Given the description of an element on the screen output the (x, y) to click on. 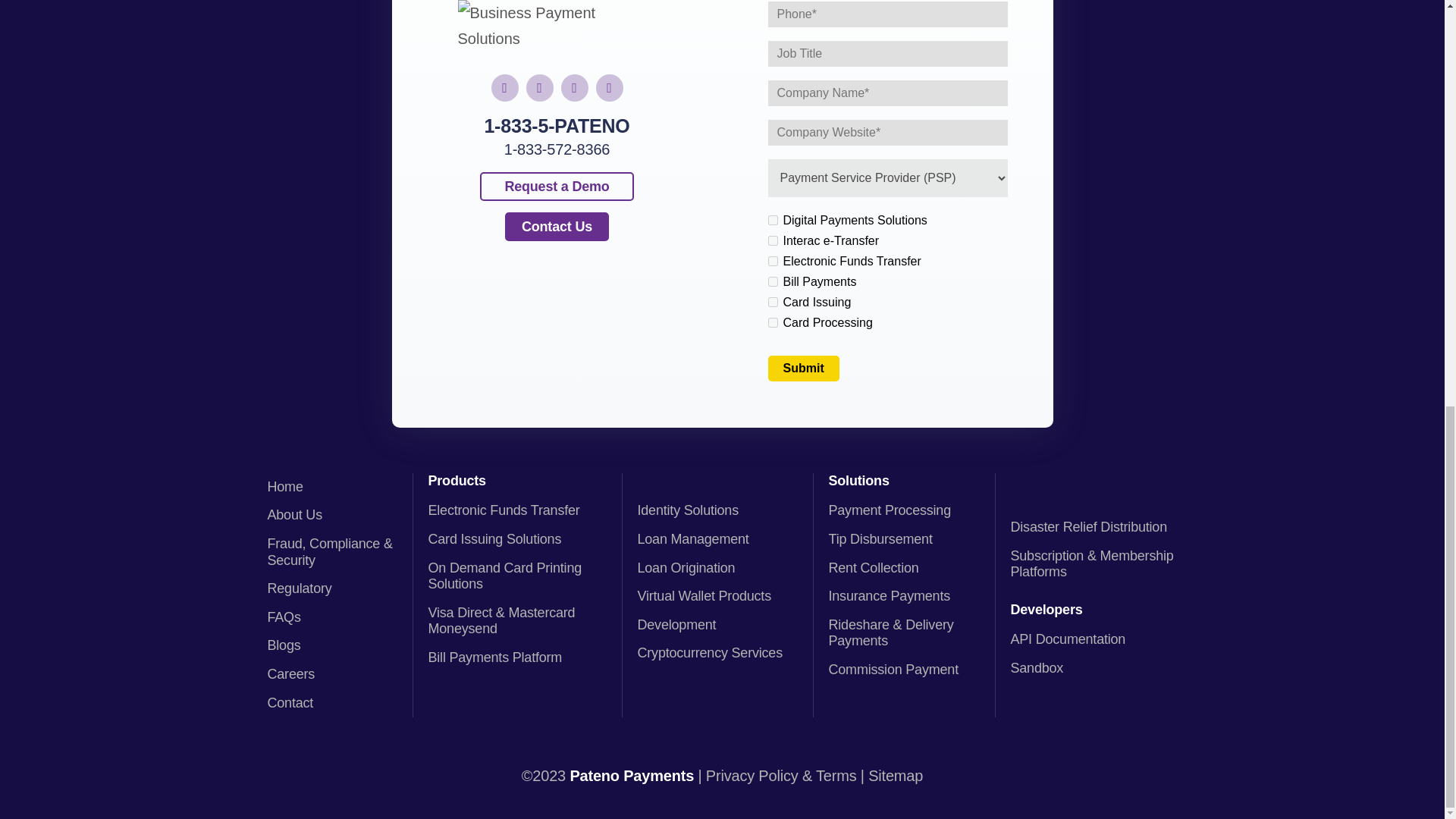
Interac e-Transfer (772, 240)
Card Issuing (772, 302)
Card Processing (772, 322)
Submit (802, 368)
Digital Payments Solutions (772, 220)
Contact Us (556, 226)
Electronic Funds Transfer (772, 261)
Bill Payments (772, 281)
Request a Demo (556, 185)
